Given the description of an element on the screen output the (x, y) to click on. 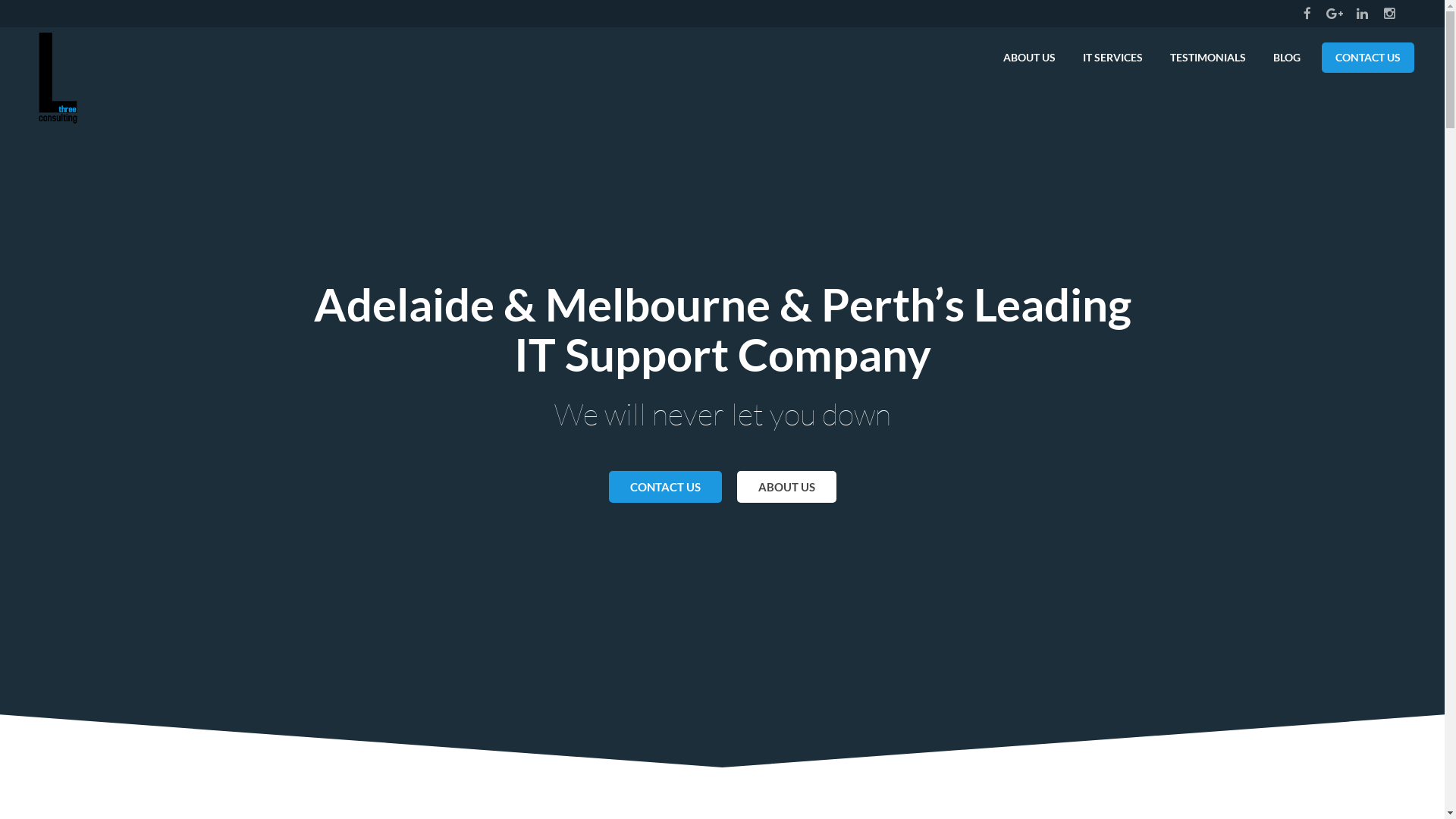
CONTACT US Element type: text (664, 486)
IT SERVICES Element type: text (1112, 57)
TESTIMONIALS Element type: text (1207, 57)
CONTACT US Element type: text (1367, 57)
BLOG Element type: text (1286, 57)
ABOUT US Element type: text (1029, 57)
ABOUT US Element type: text (786, 486)
